Given the description of an element on the screen output the (x, y) to click on. 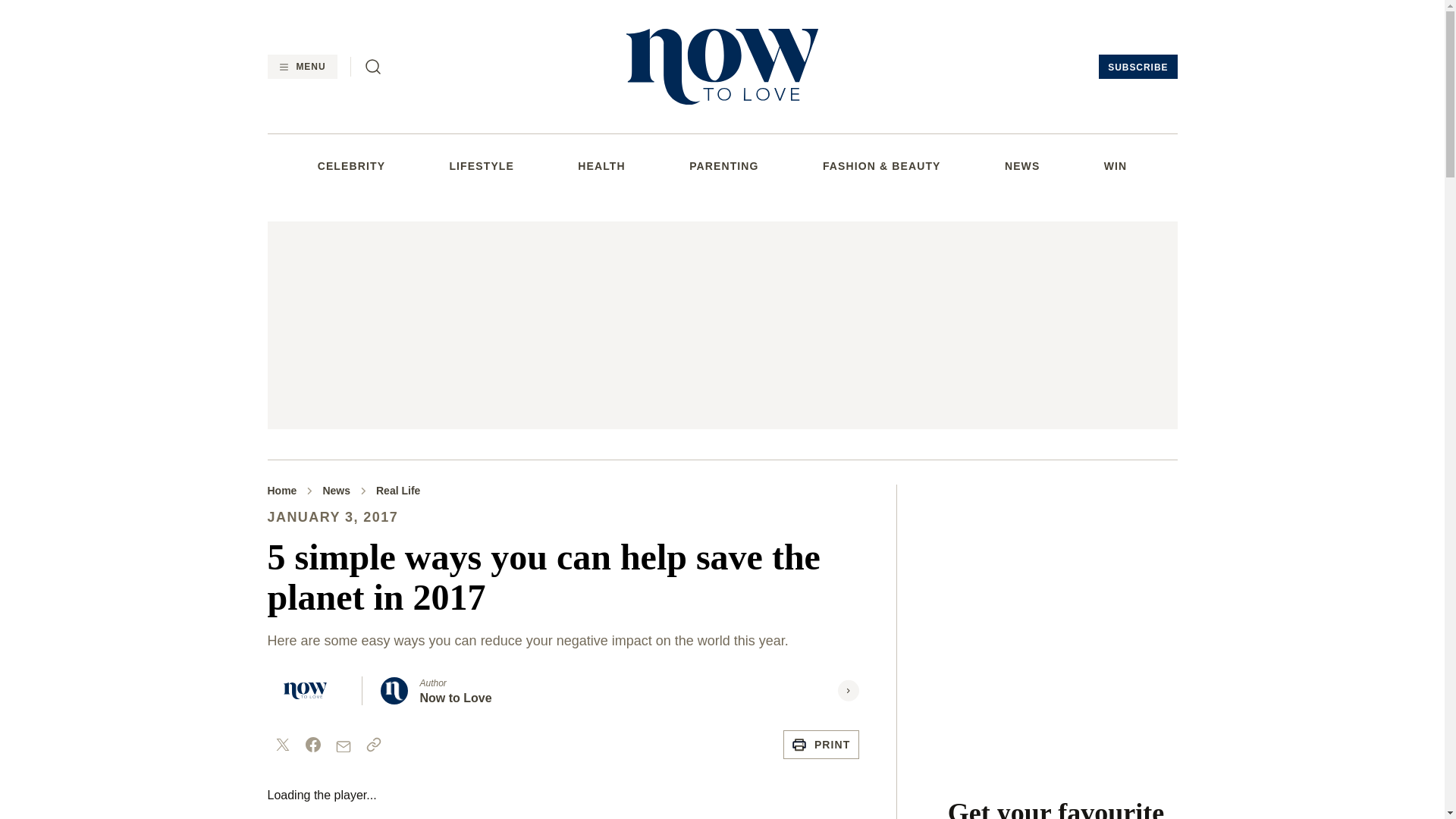
LIFESTYLE (480, 165)
PARENTING (723, 165)
WIN (1114, 165)
MENU (301, 66)
HEALTH (601, 165)
CELEBRITY (351, 165)
SUBSCRIBE (1137, 66)
NEWS (1021, 165)
